Given the description of an element on the screen output the (x, y) to click on. 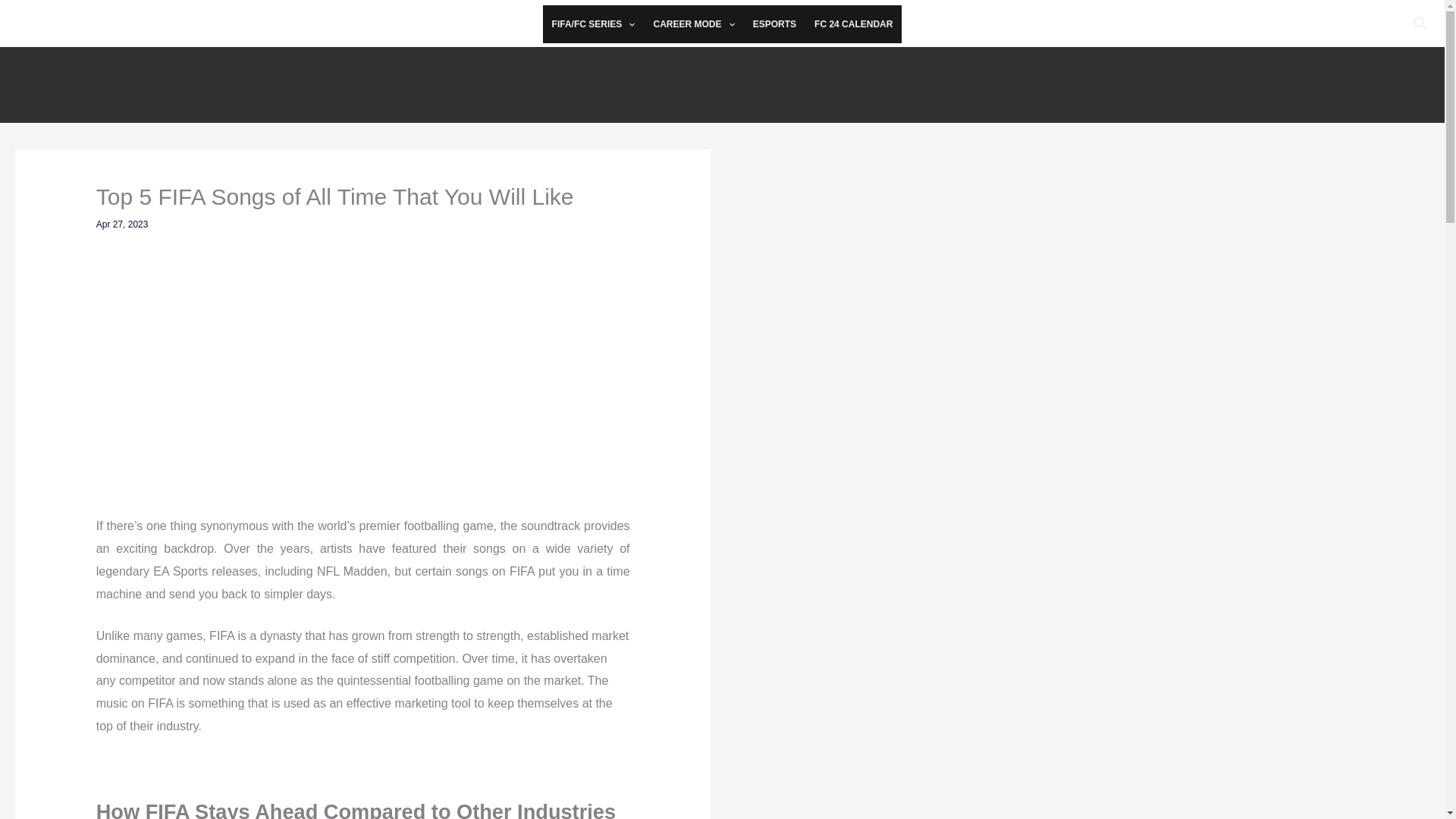
ESPORTS (774, 23)
CAREER MODE (692, 23)
FC 24 CALENDAR (853, 23)
